Given the description of an element on the screen output the (x, y) to click on. 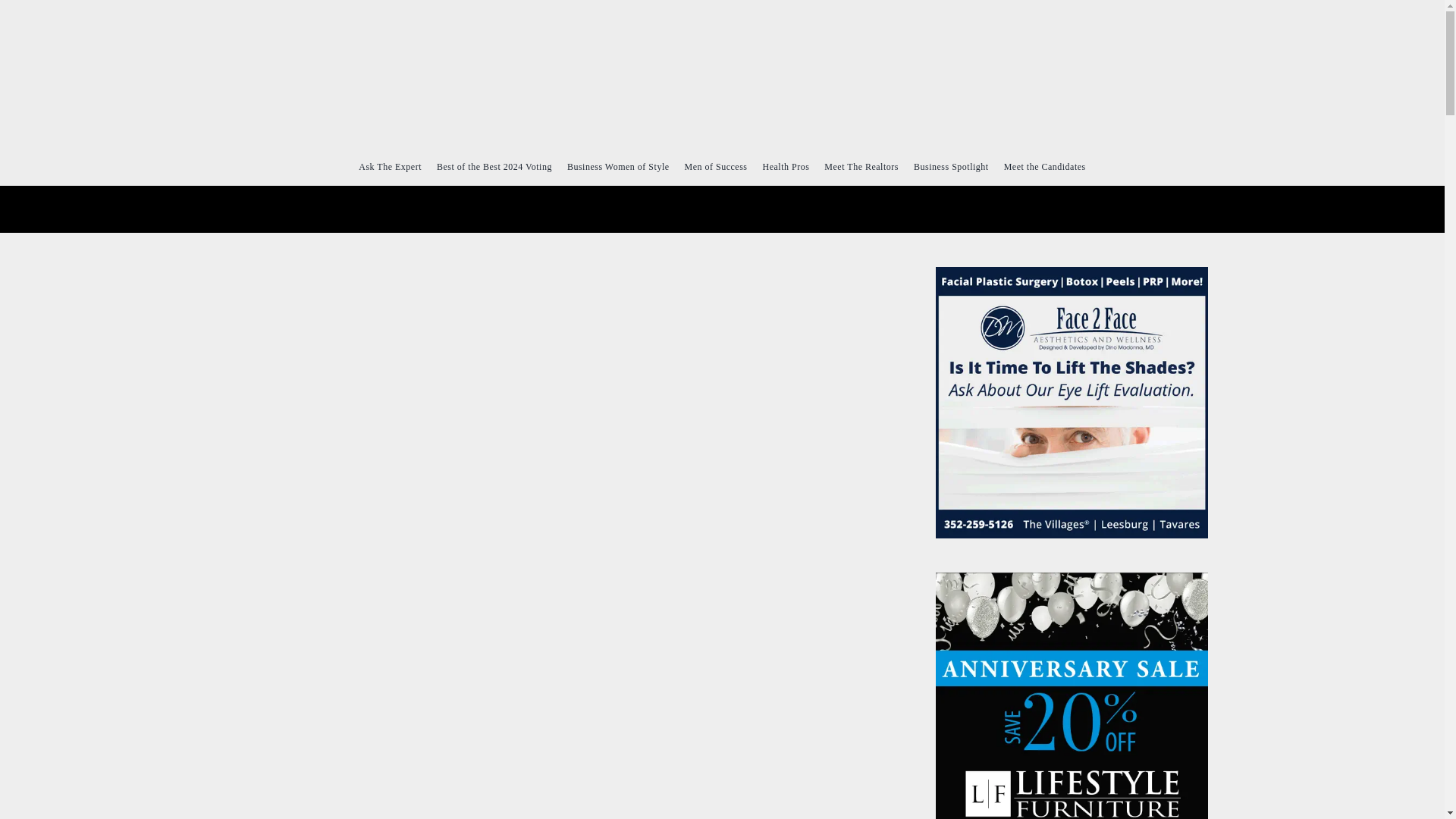
Ask The Expert (390, 166)
Men of Success (716, 166)
Meet The Realtors (861, 166)
Health Pros (785, 166)
Business Women of Style (618, 166)
Best of the Best 2024 Voting (493, 166)
Meet the Candidates (1045, 166)
Business Spotlight (951, 166)
